Given the description of an element on the screen output the (x, y) to click on. 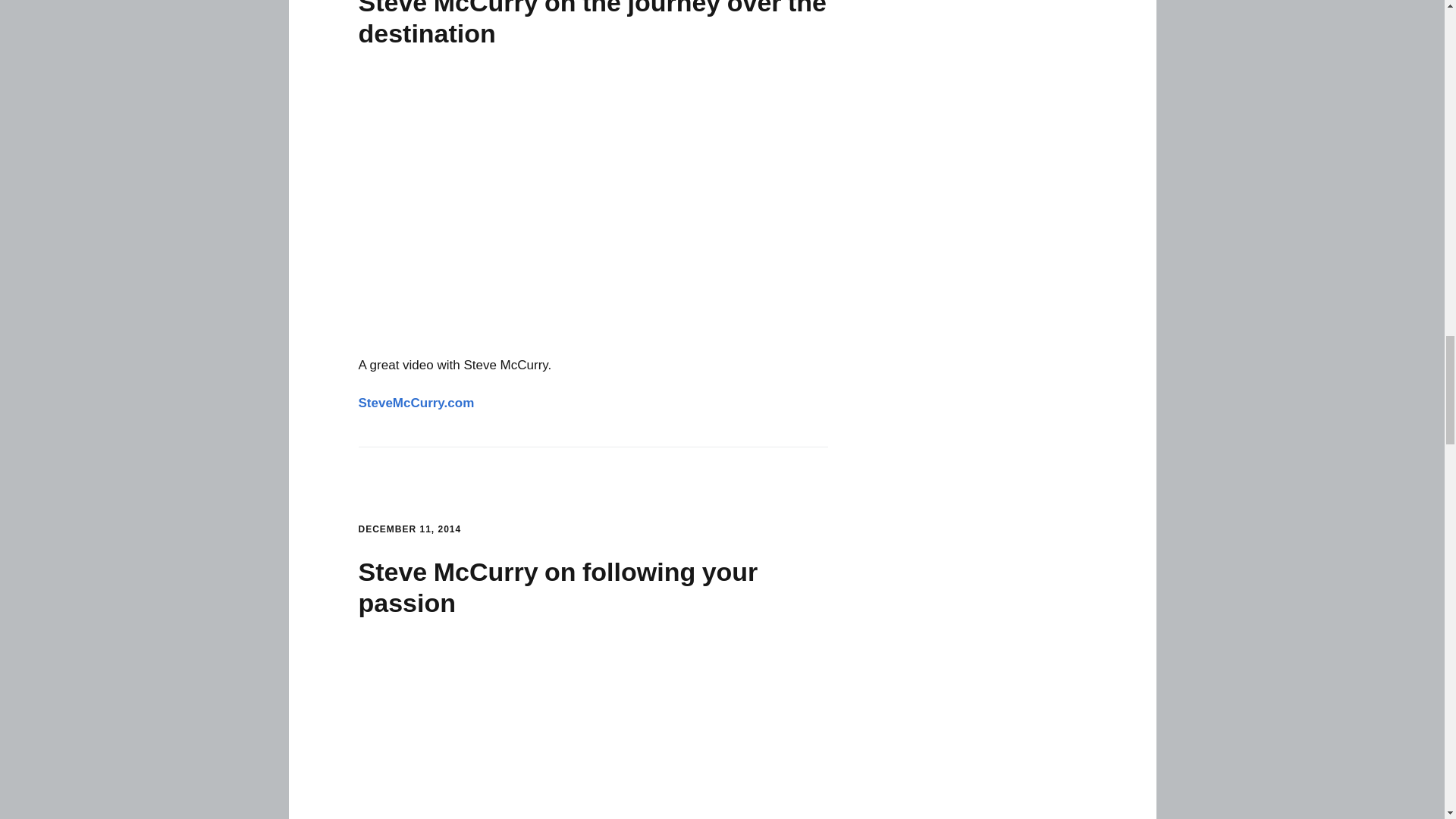
Steve McCurry on following your passion (593, 731)
Steve McCurry on the journey over the destination (593, 205)
